Given the description of an element on the screen output the (x, y) to click on. 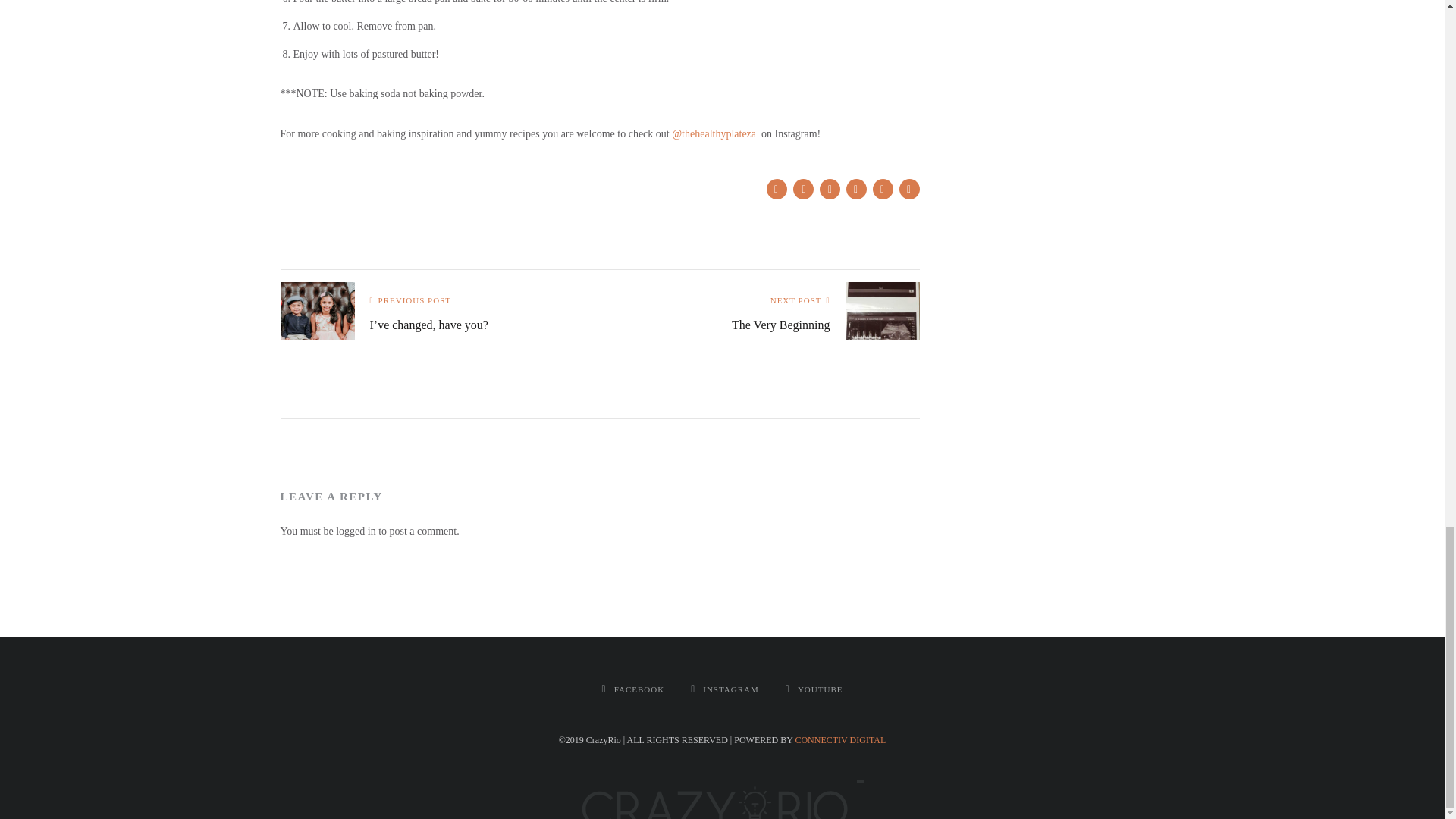
Share to Twitter (803, 189)
Share to Facebook (775, 189)
Share to Pinterest (829, 189)
Share with Whatsapp (855, 189)
Share to LinkedIn (882, 189)
